Given the description of an element on the screen output the (x, y) to click on. 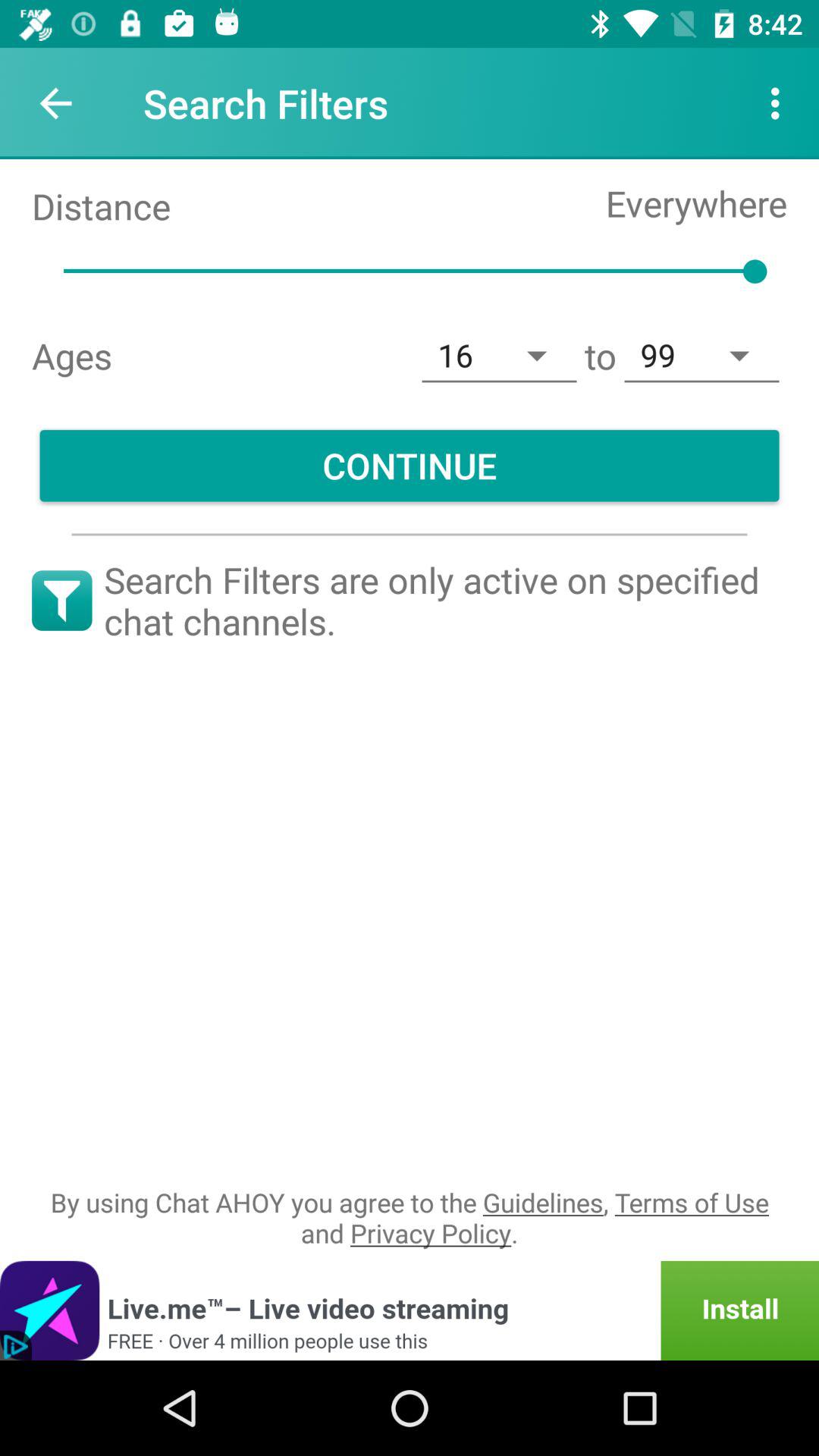
choose the by using chat (409, 1217)
